Given the description of an element on the screen output the (x, y) to click on. 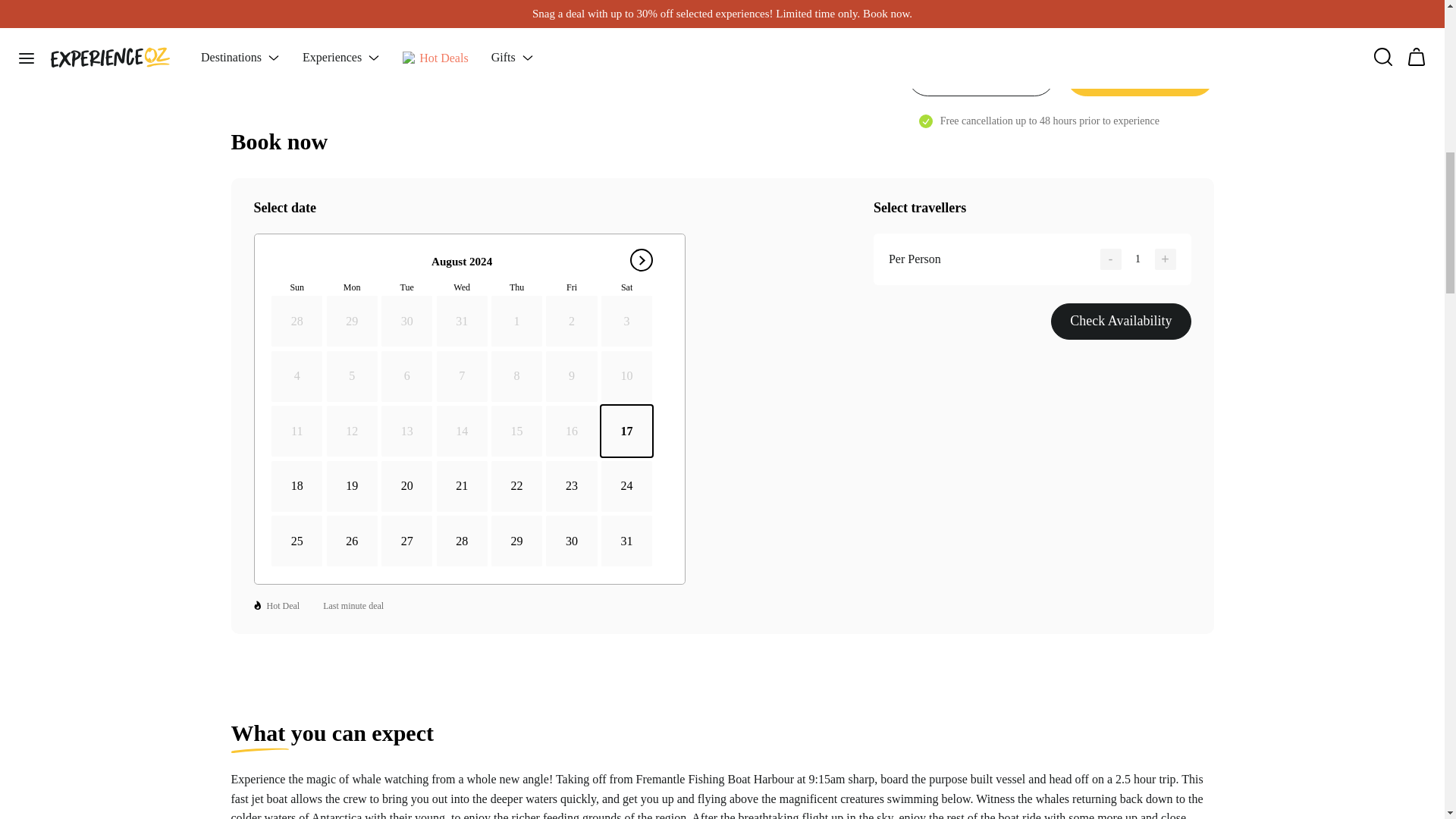
Next Month (641, 259)
- (1110, 259)
Gift it (980, 11)
Book now (1138, 11)
Check Availability (1121, 321)
